Given the description of an element on the screen output the (x, y) to click on. 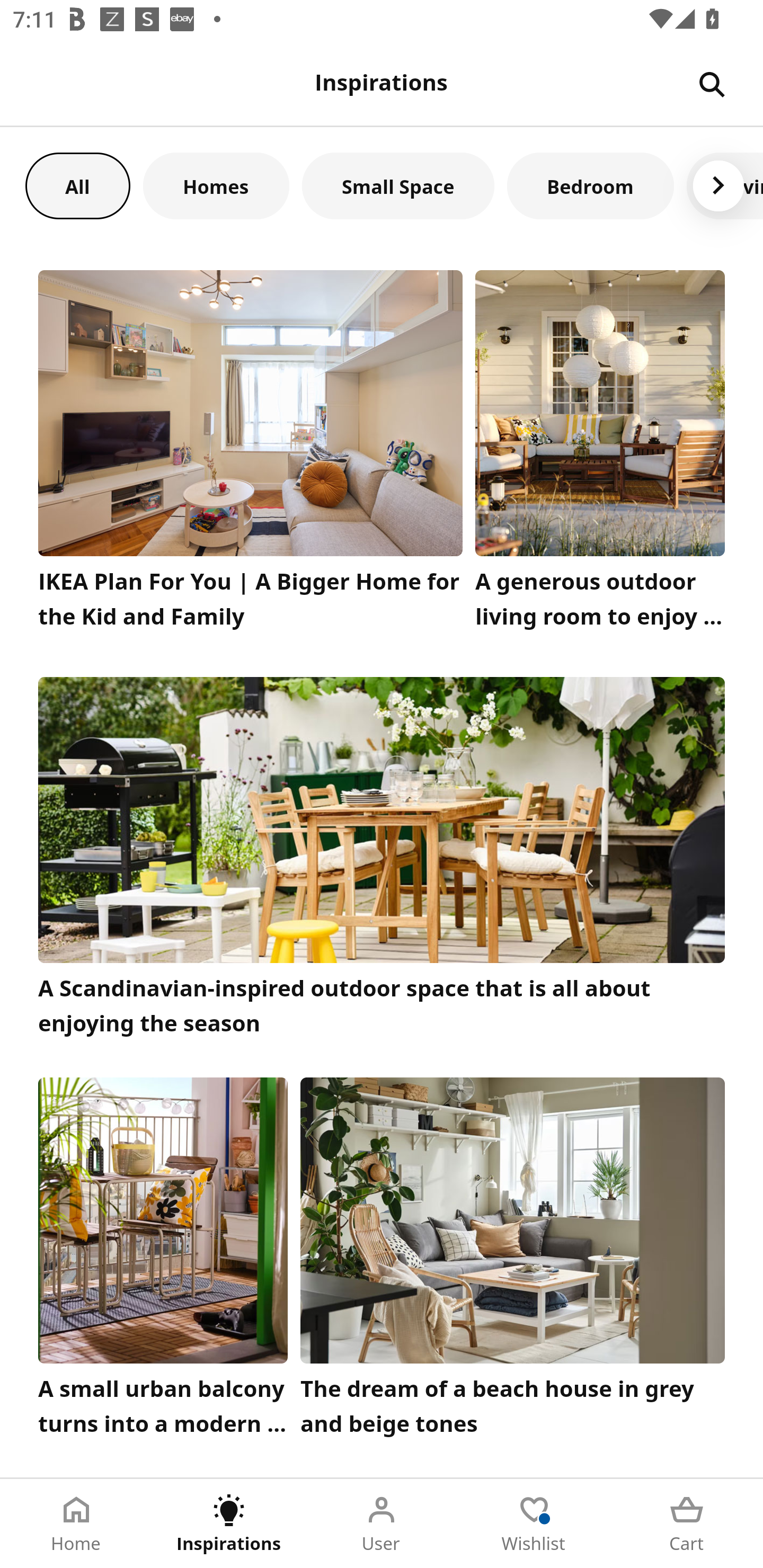
All (77, 185)
Homes (216, 185)
Small Space (398, 185)
Bedroom (590, 185)
The dream of a beach house in grey and beige tones (512, 1261)
Home
Tab 1 of 5 (76, 1522)
Inspirations
Tab 2 of 5 (228, 1522)
User
Tab 3 of 5 (381, 1522)
Wishlist
Tab 4 of 5 (533, 1522)
Cart
Tab 5 of 5 (686, 1522)
